Given the description of an element on the screen output the (x, y) to click on. 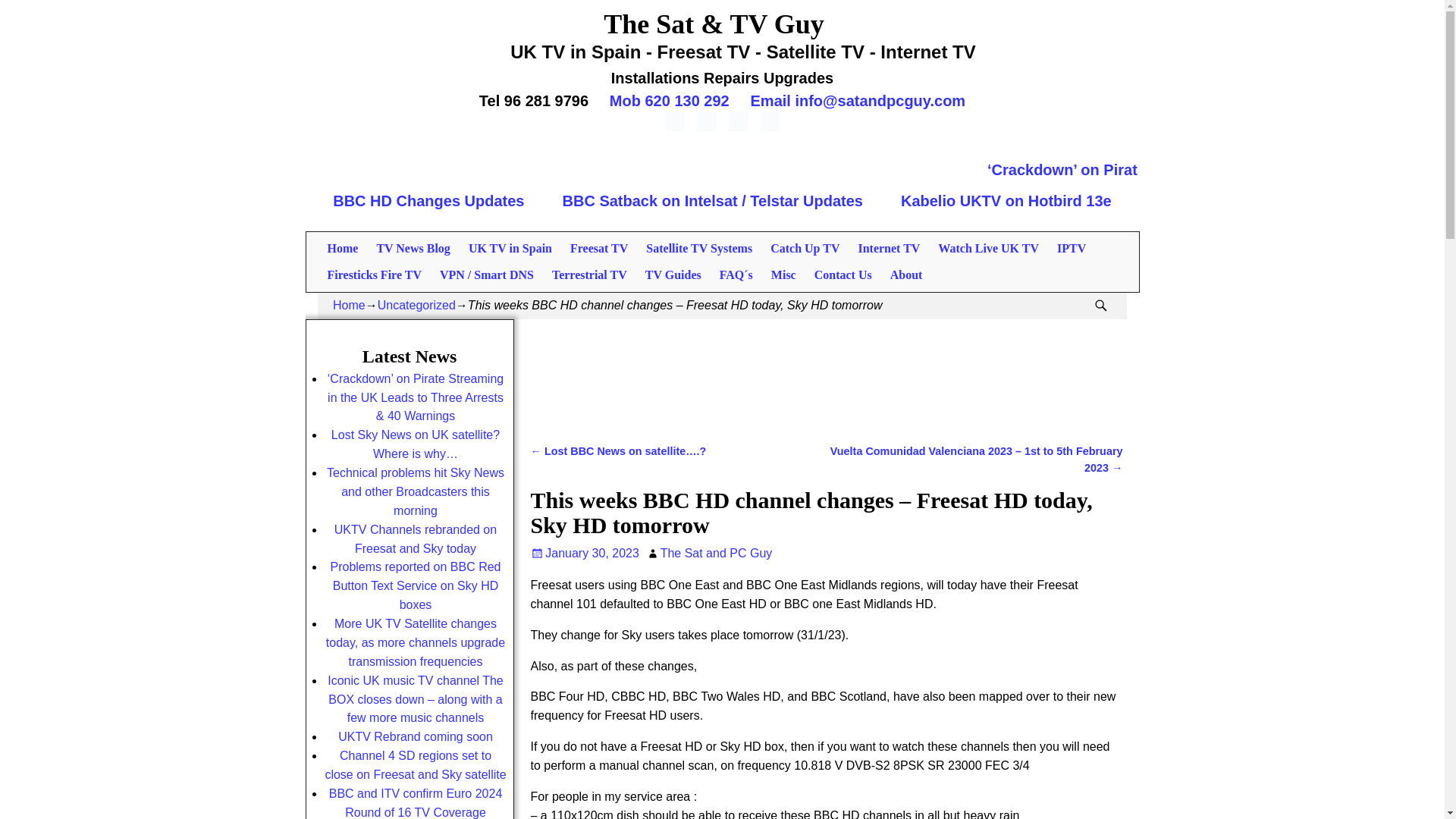
1:13 pm (585, 553)
TV News Blog (413, 248)
BBC HD Changes Updates (428, 200)
Kabelio UKTV on Hotbird 13e (1006, 200)
UK TV in Spain (510, 248)
Freesat TV (598, 248)
Mob 620 130 292 (669, 100)
View all posts by The Sat and PC Guy (717, 553)
Satellite TV Systems (699, 248)
Home (343, 248)
